Given the description of an element on the screen output the (x, y) to click on. 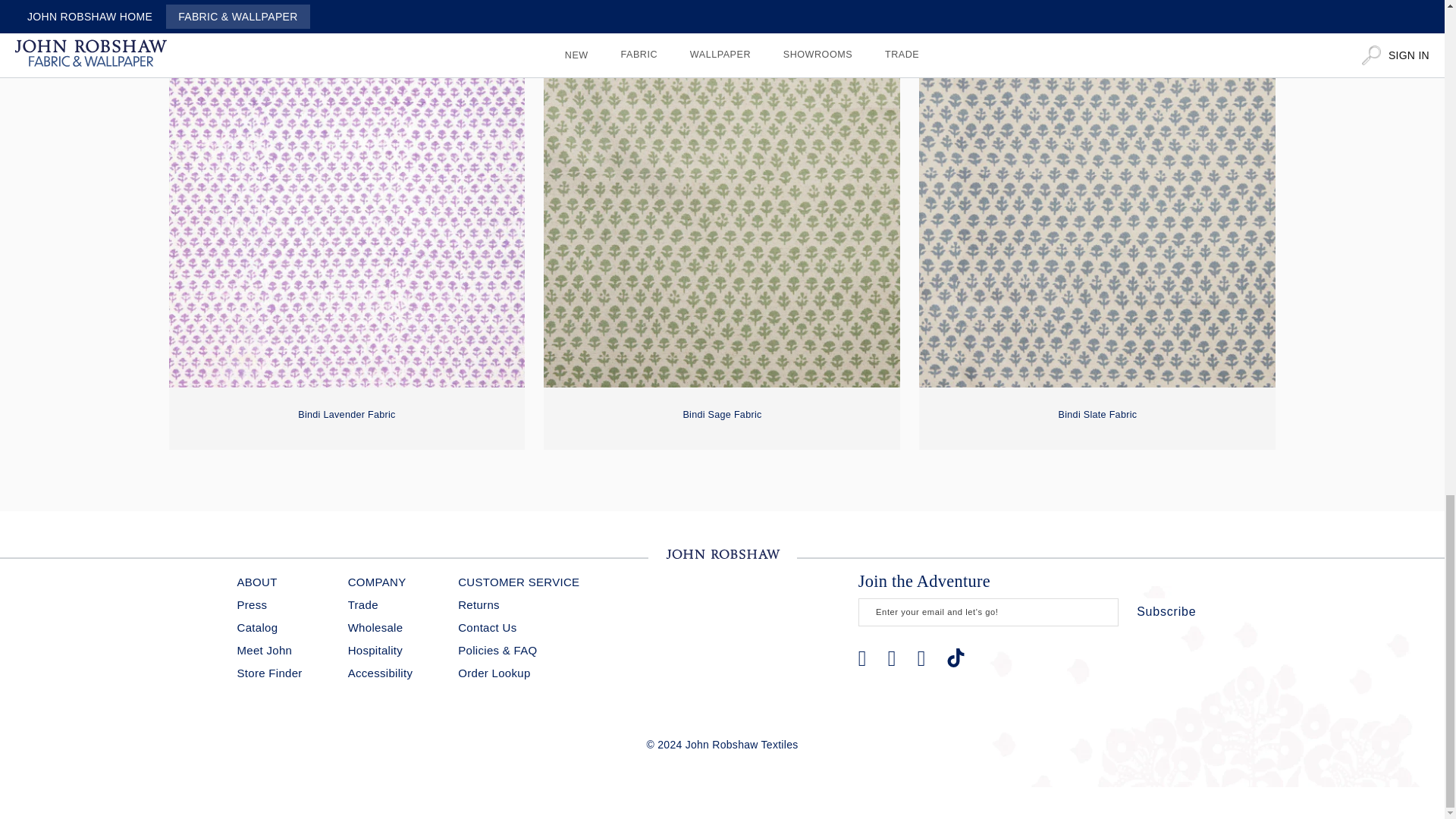
Subscribe (1166, 611)
